Given the description of an element on the screen output the (x, y) to click on. 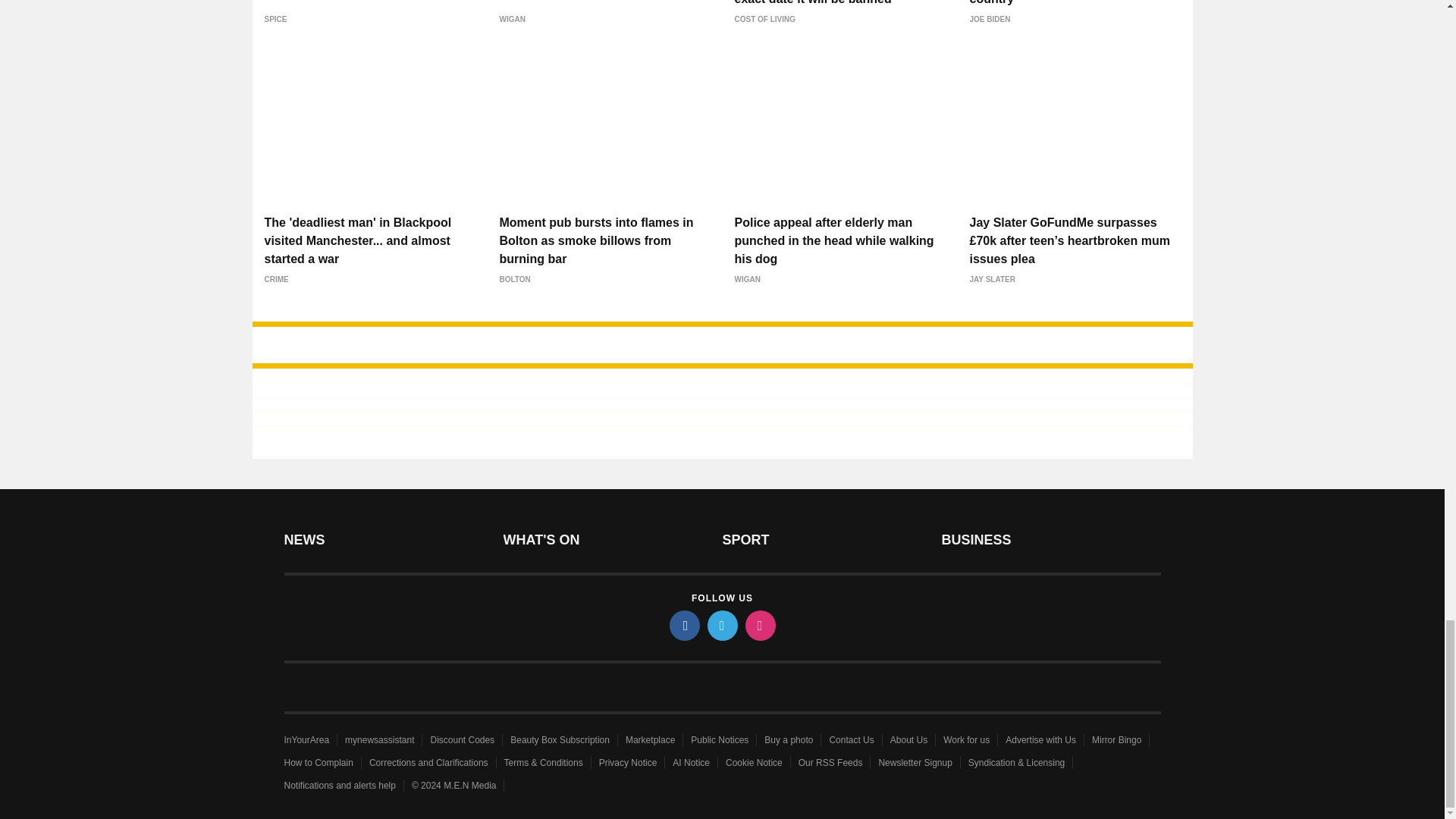
facebook (683, 625)
twitter (721, 625)
instagram (759, 625)
